Given the description of an element on the screen output the (x, y) to click on. 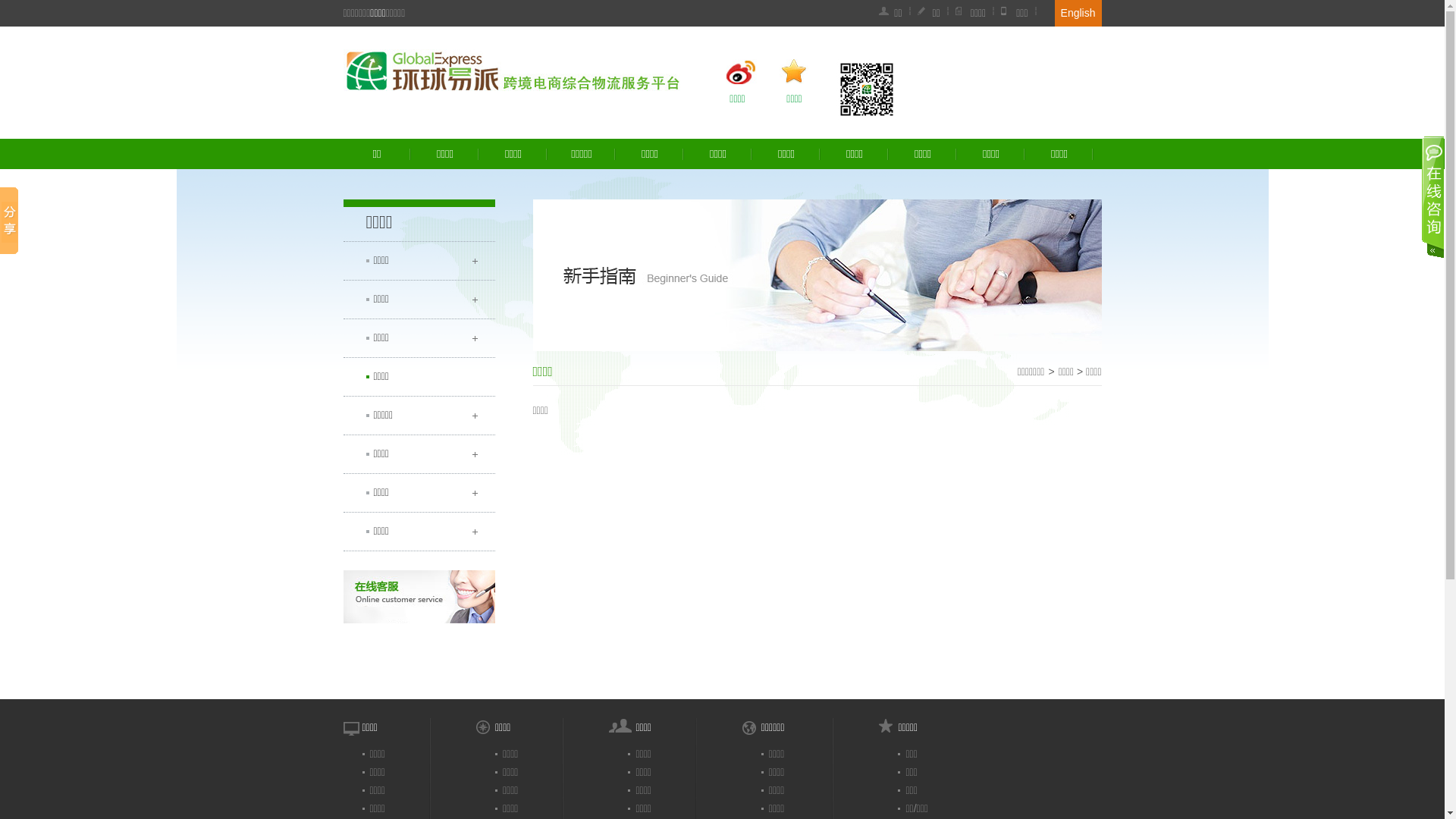
English Element type: text (1077, 12)
